Given the description of an element on the screen output the (x, y) to click on. 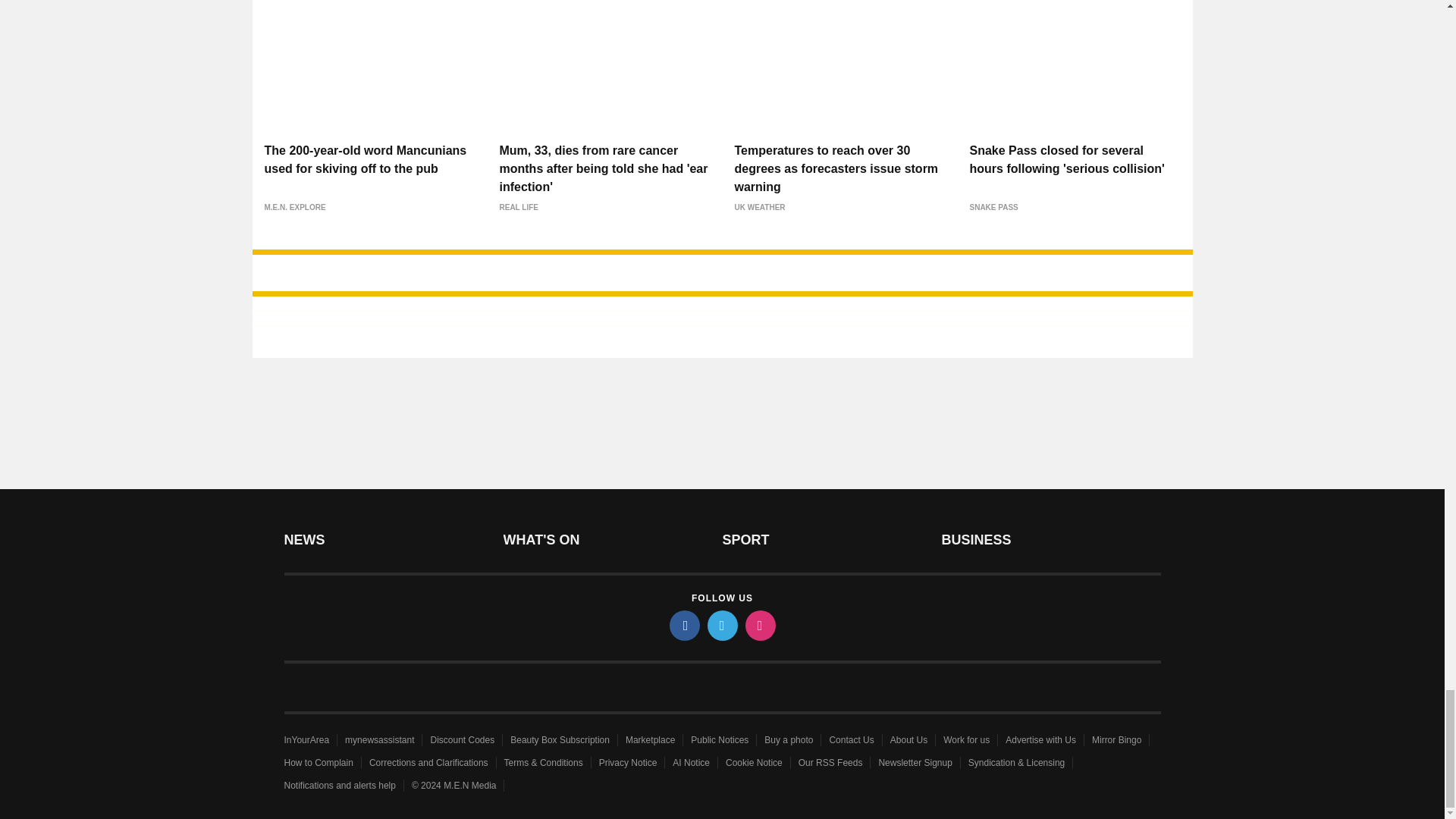
twitter (721, 625)
facebook (683, 625)
instagram (759, 625)
